Given the description of an element on the screen output the (x, y) to click on. 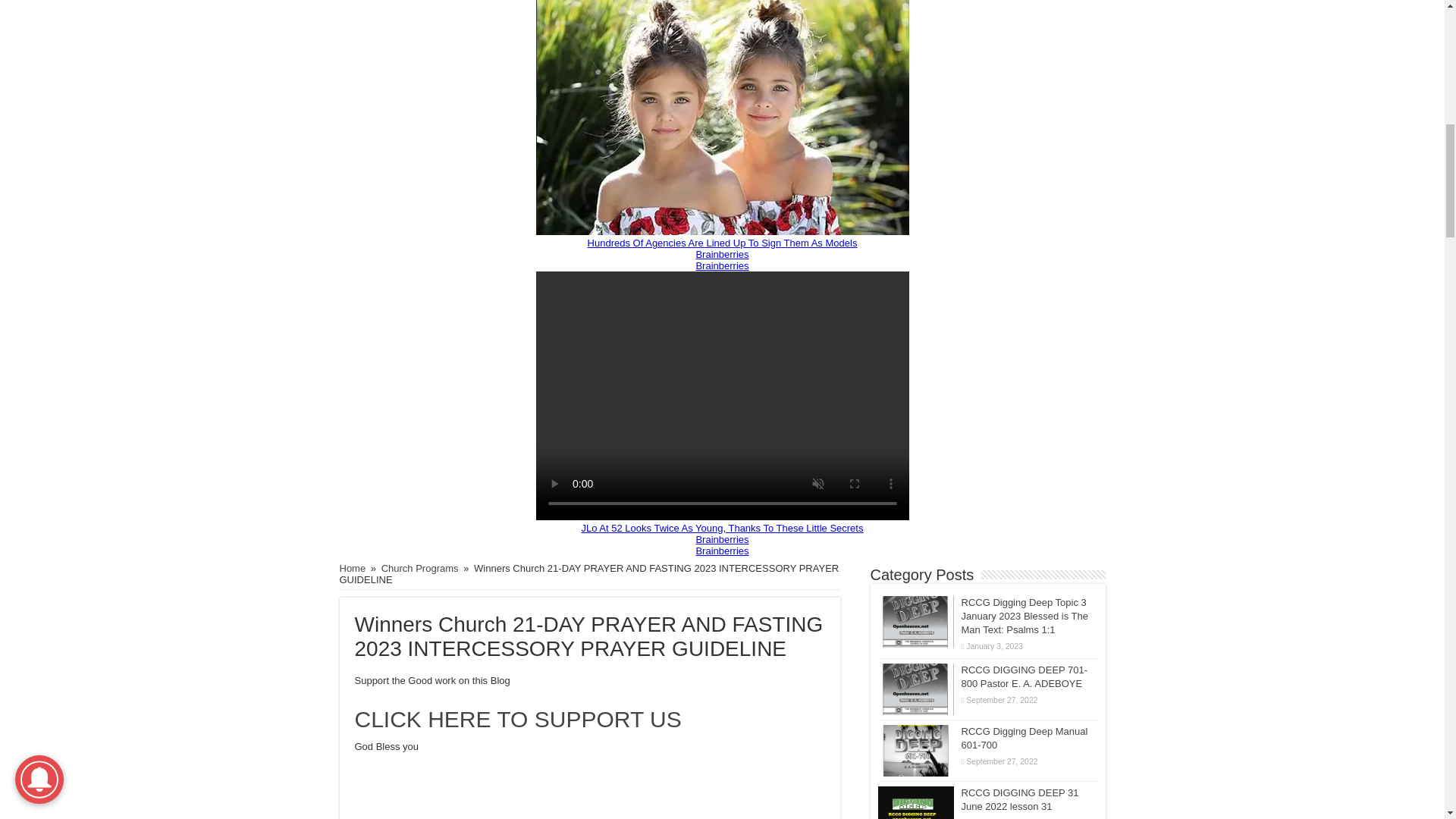
Advertisement (590, 803)
Home (352, 568)
Church Programs (419, 568)
CLICK HERE TO SUPPORT US (518, 719)
